Given the description of an element on the screen output the (x, y) to click on. 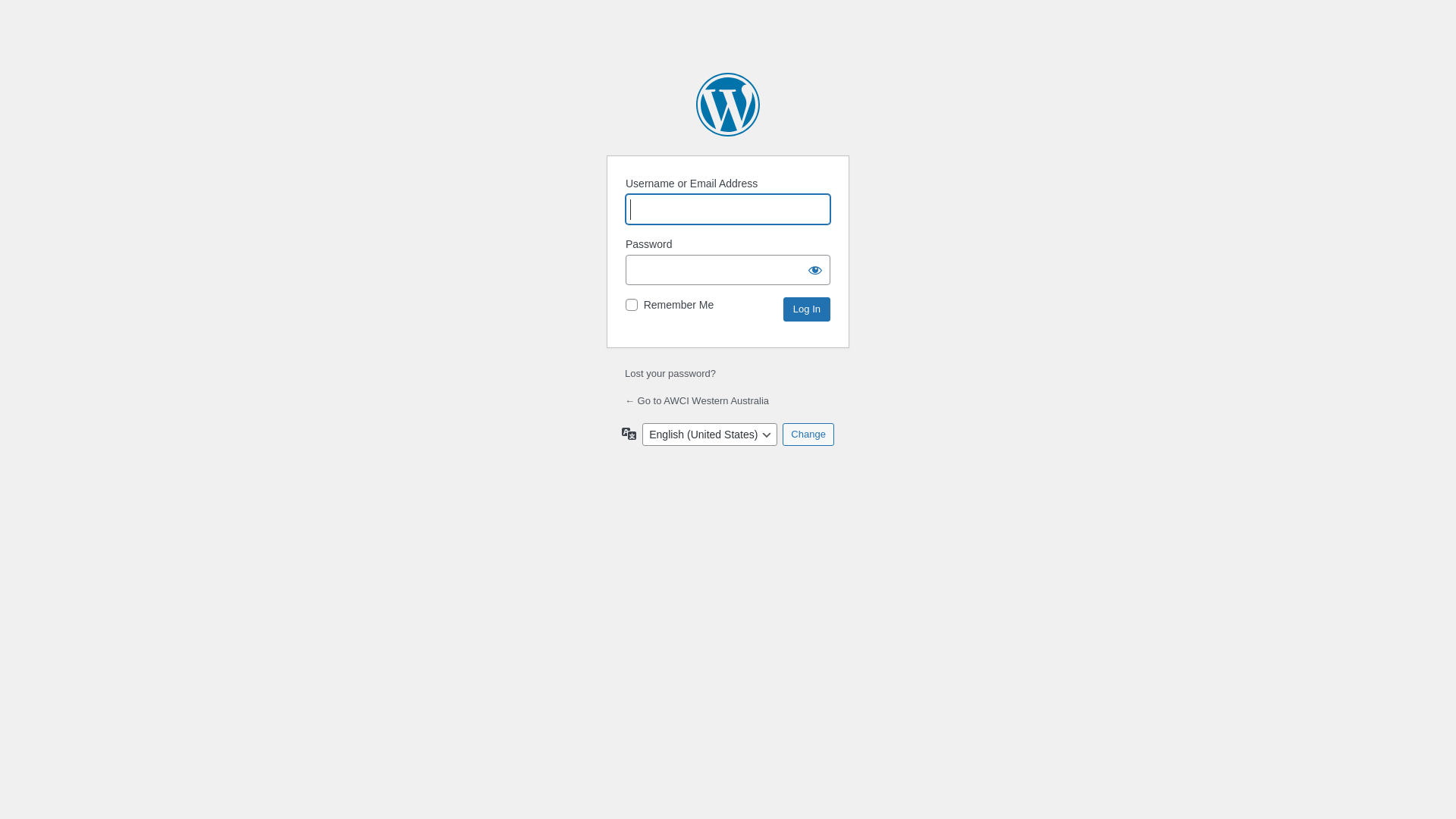
Change Element type: text (808, 434)
Log In Element type: text (806, 309)
Lost your password? Element type: text (669, 373)
Powered by WordPress Element type: text (727, 104)
